Given the description of an element on the screen output the (x, y) to click on. 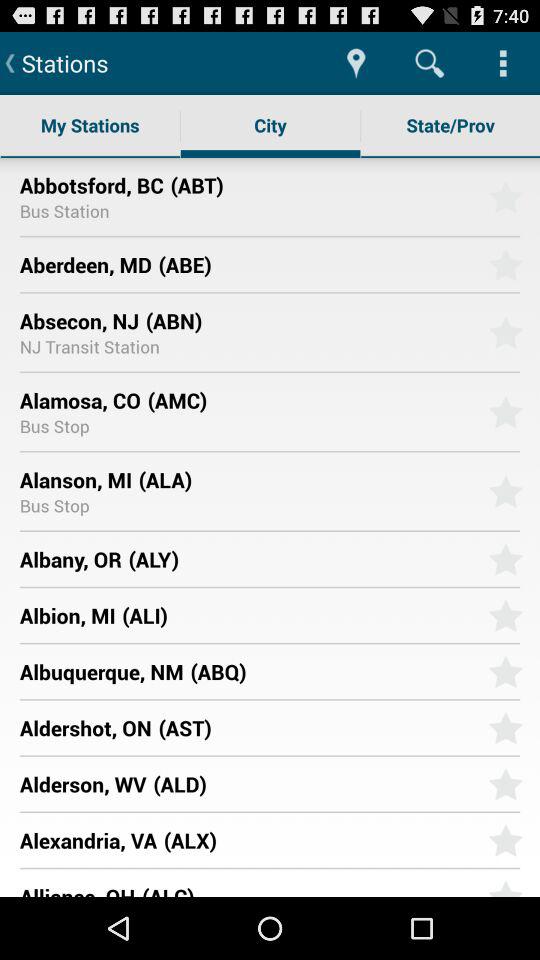
turn off app above state/prov app (503, 62)
